Given the description of an element on the screen output the (x, y) to click on. 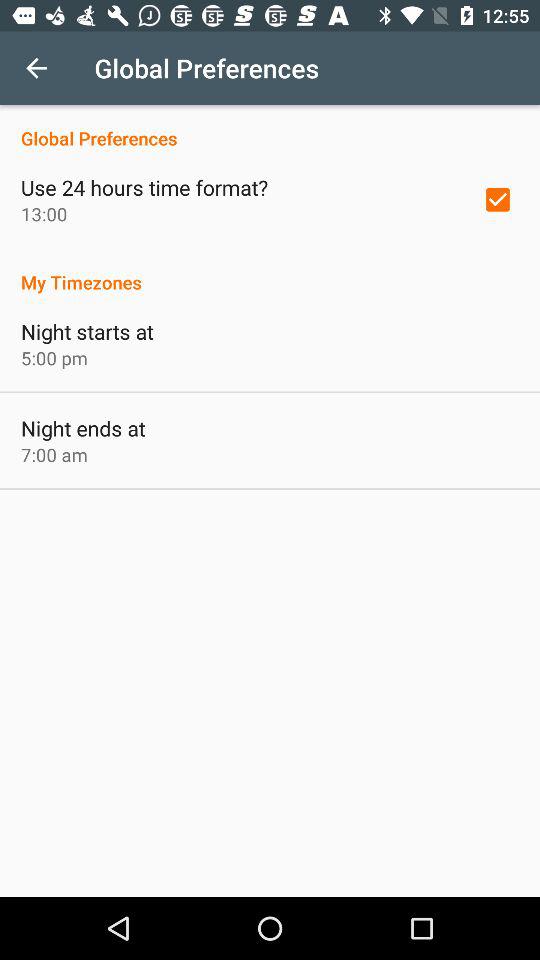
open icon to the left of the global preferences icon (36, 68)
